Given the description of an element on the screen output the (x, y) to click on. 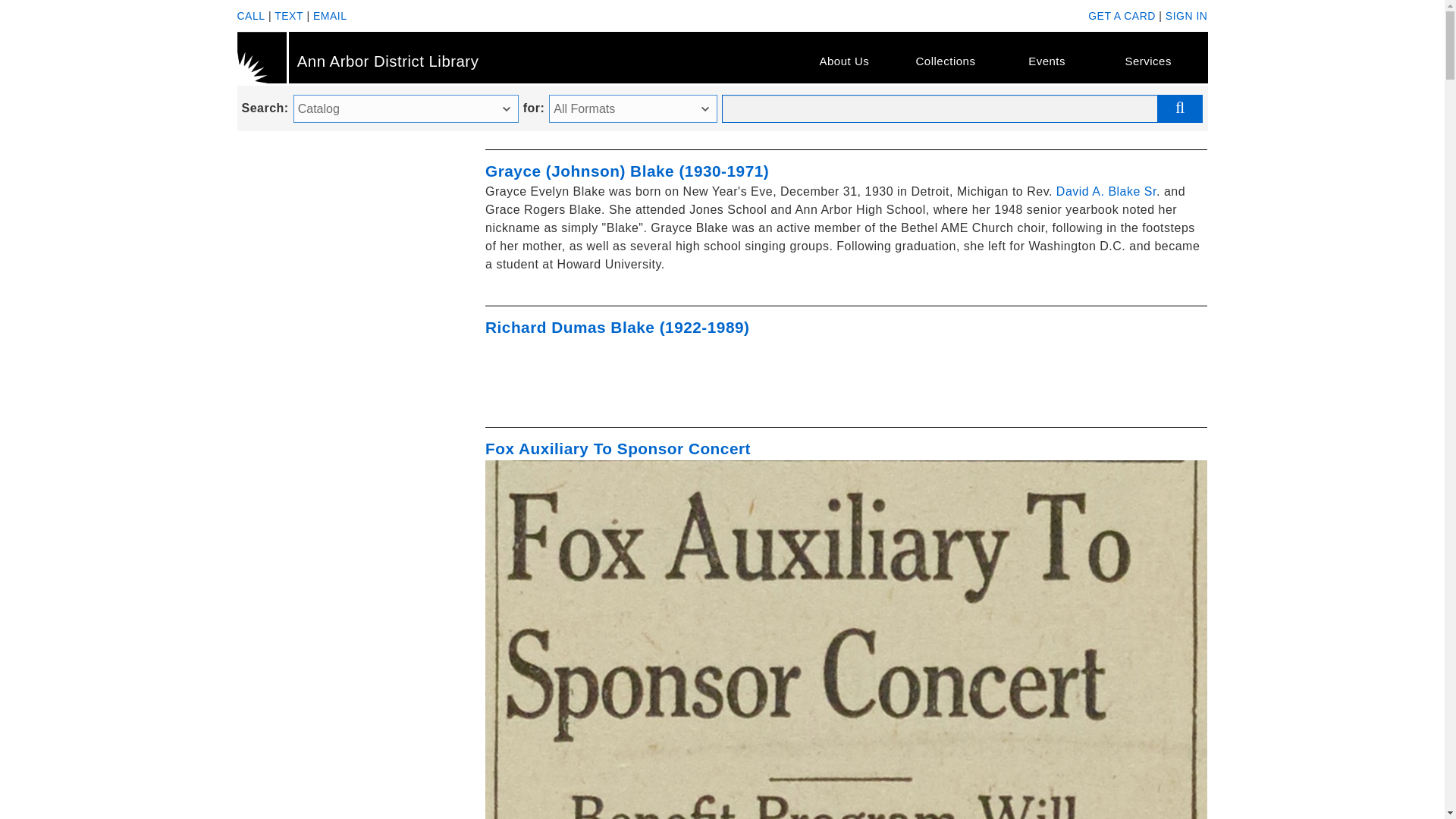
About Us (844, 61)
  Ann Arbor District Library (431, 57)
SIGN IN (1187, 15)
EMAIL (330, 15)
Fox Auxiliary To Sponsor Concert (617, 448)
GET A CARD (1121, 15)
CALL (249, 15)
Search text (962, 108)
TEXT (288, 15)
David A. Blake Sr (1106, 191)
Collections (945, 61)
Events (1046, 61)
Services (1147, 61)
